Given the description of an element on the screen output the (x, y) to click on. 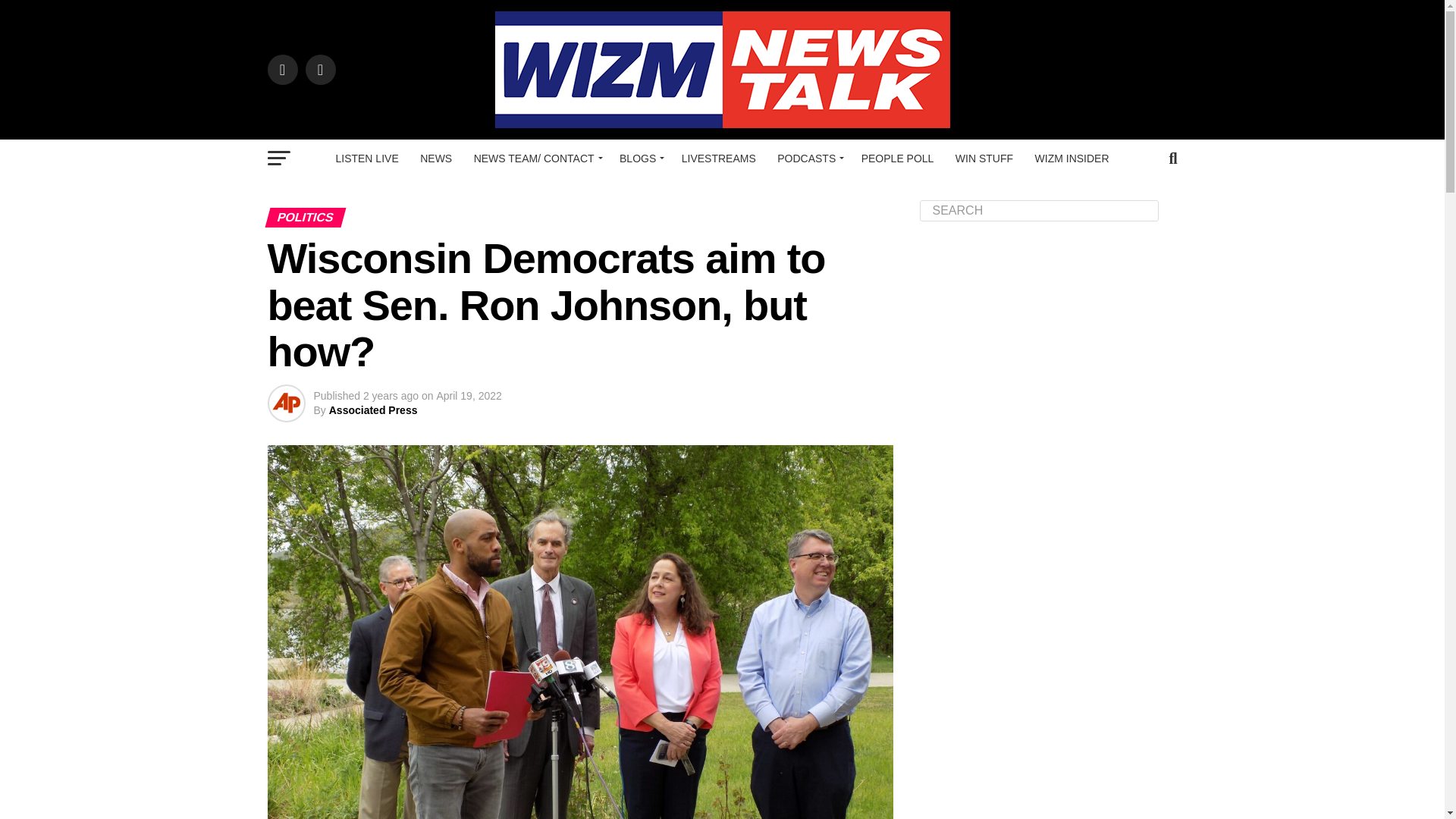
LIVESTREAMS (718, 158)
BLOGS (639, 158)
Search (1038, 210)
NEWS (435, 158)
LISTEN LIVE (366, 158)
